Given the description of an element on the screen output the (x, y) to click on. 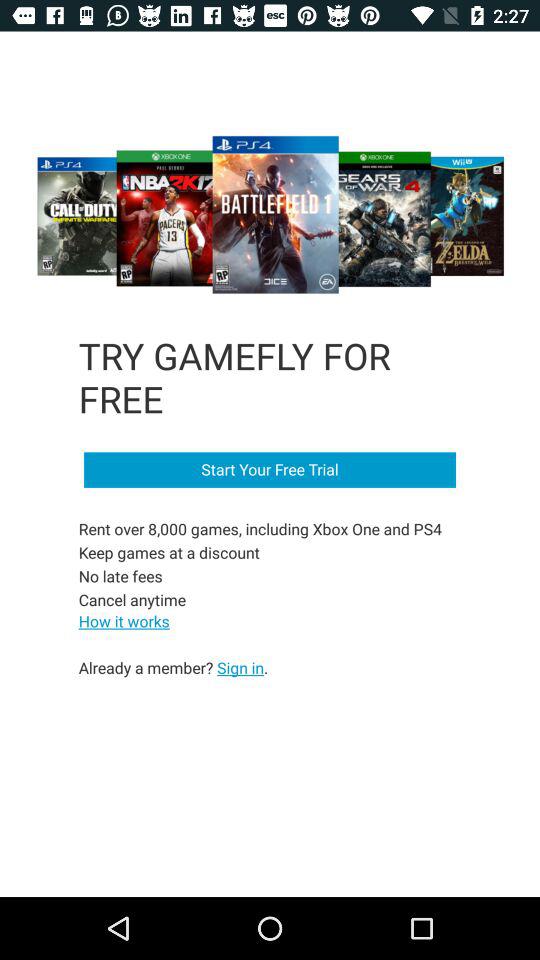
select the icon at the bottom left corner (173, 667)
